Given the description of an element on the screen output the (x, y) to click on. 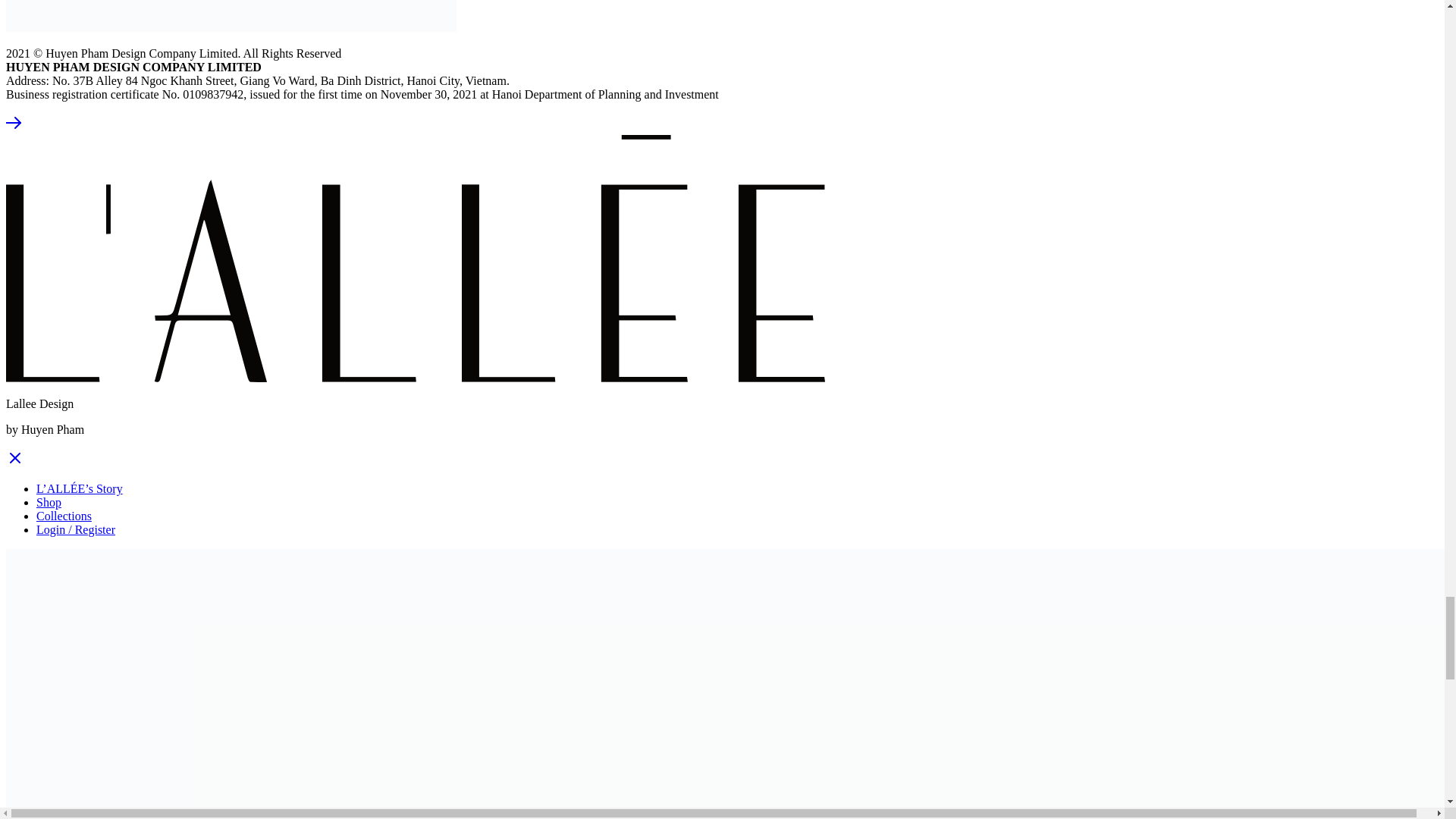
Collections (63, 515)
Shop (48, 502)
